Given the description of an element on the screen output the (x, y) to click on. 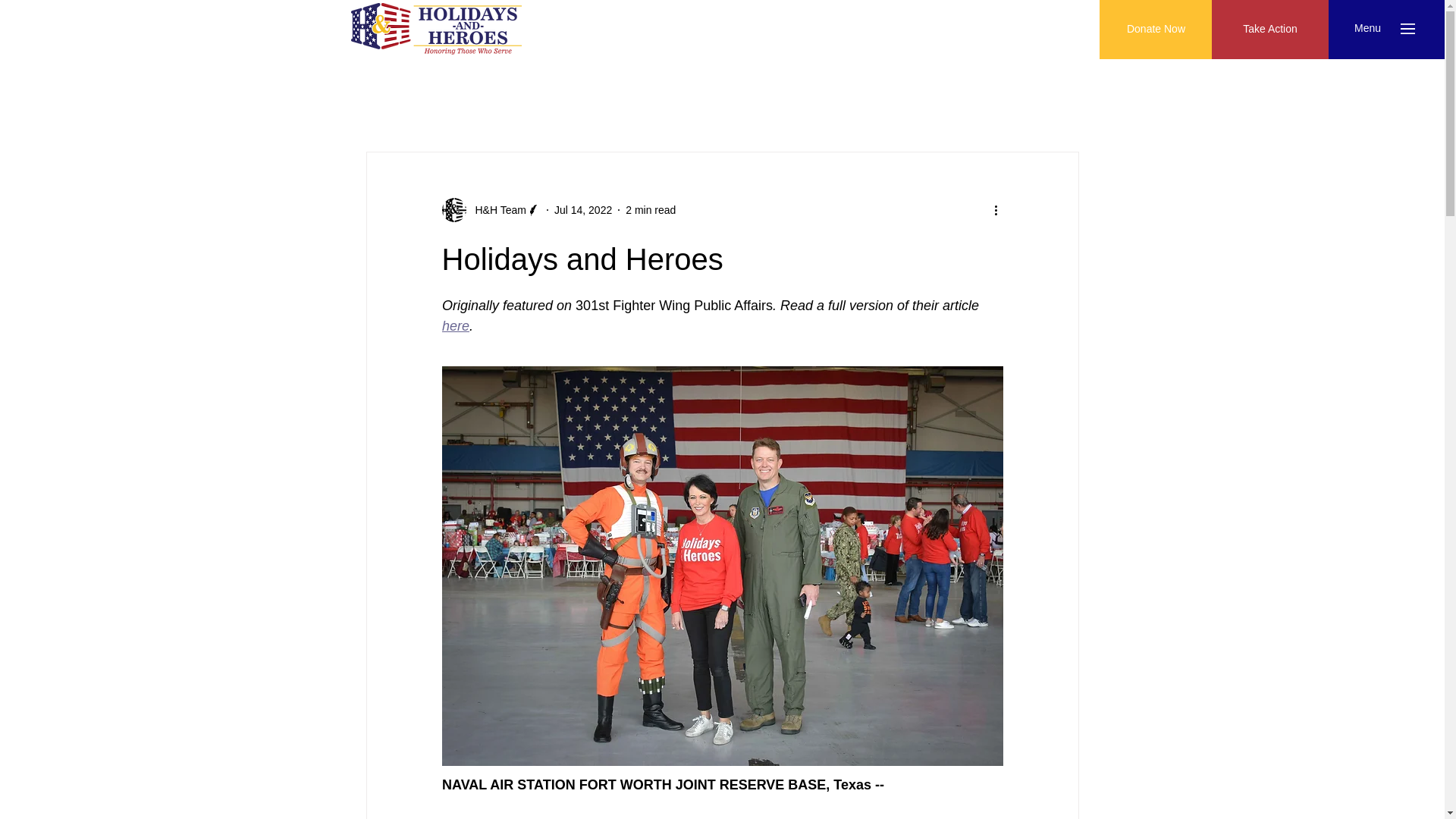
Take Action (1269, 29)
Jul 14, 2022 (582, 209)
2 min read (650, 209)
Donate Now (1155, 29)
here (454, 325)
